Given the description of an element on the screen output the (x, y) to click on. 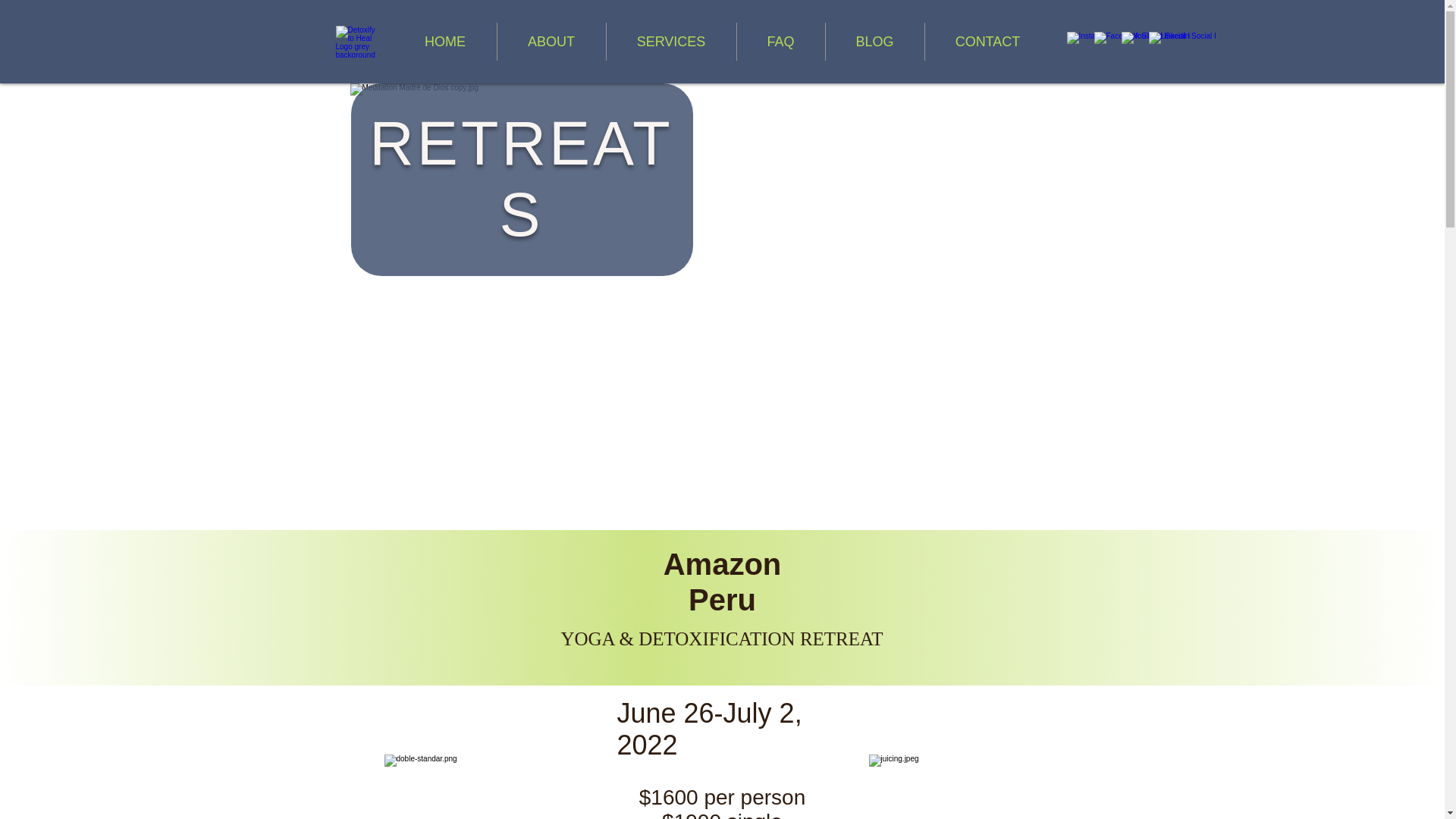
CONTACT (987, 41)
BLOG (874, 41)
ABOUT (551, 41)
FAQ (780, 41)
HOME (445, 41)
SERVICES (671, 41)
